Given the description of an element on the screen output the (x, y) to click on. 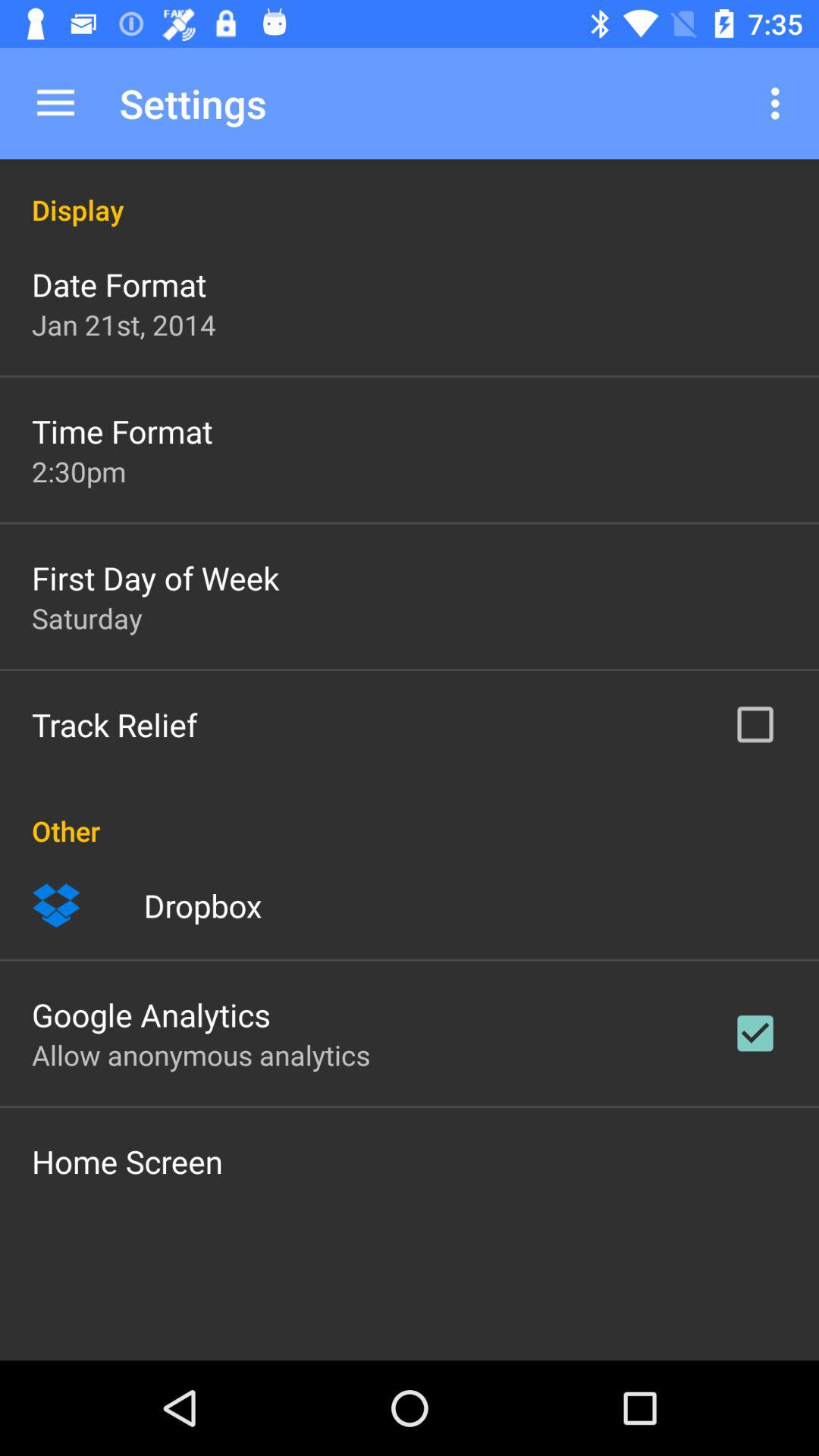
jump to the google analytics (150, 1014)
